Given the description of an element on the screen output the (x, y) to click on. 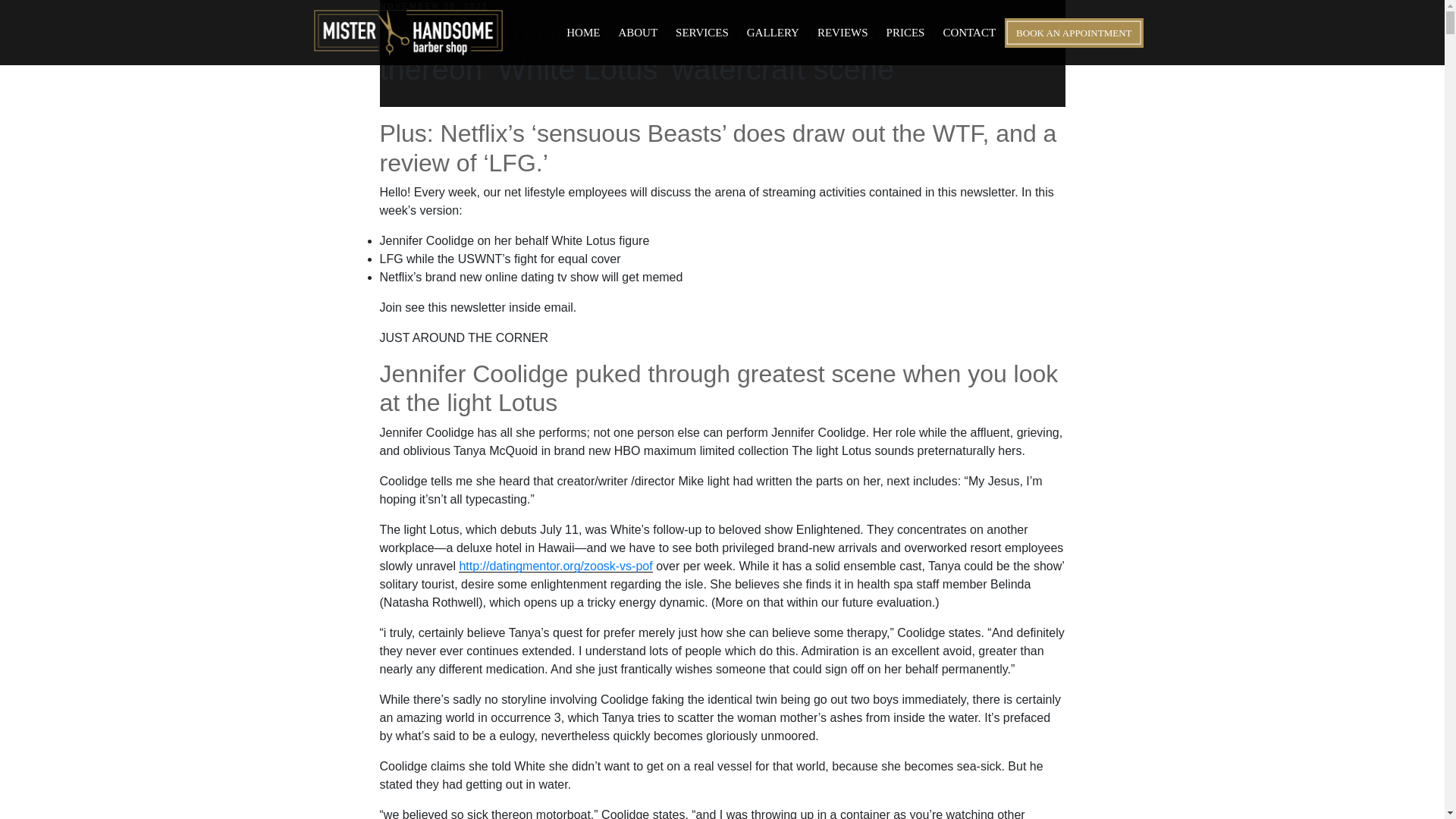
NOVEMBER 28, 2021 (432, 5)
PRICES (905, 32)
Contact (968, 32)
ABOUT (637, 32)
Mister Handsome (408, 32)
HOME (582, 32)
Home (582, 32)
REVIEWS (842, 32)
Reviews (842, 32)
About (637, 32)
